Given the description of an element on the screen output the (x, y) to click on. 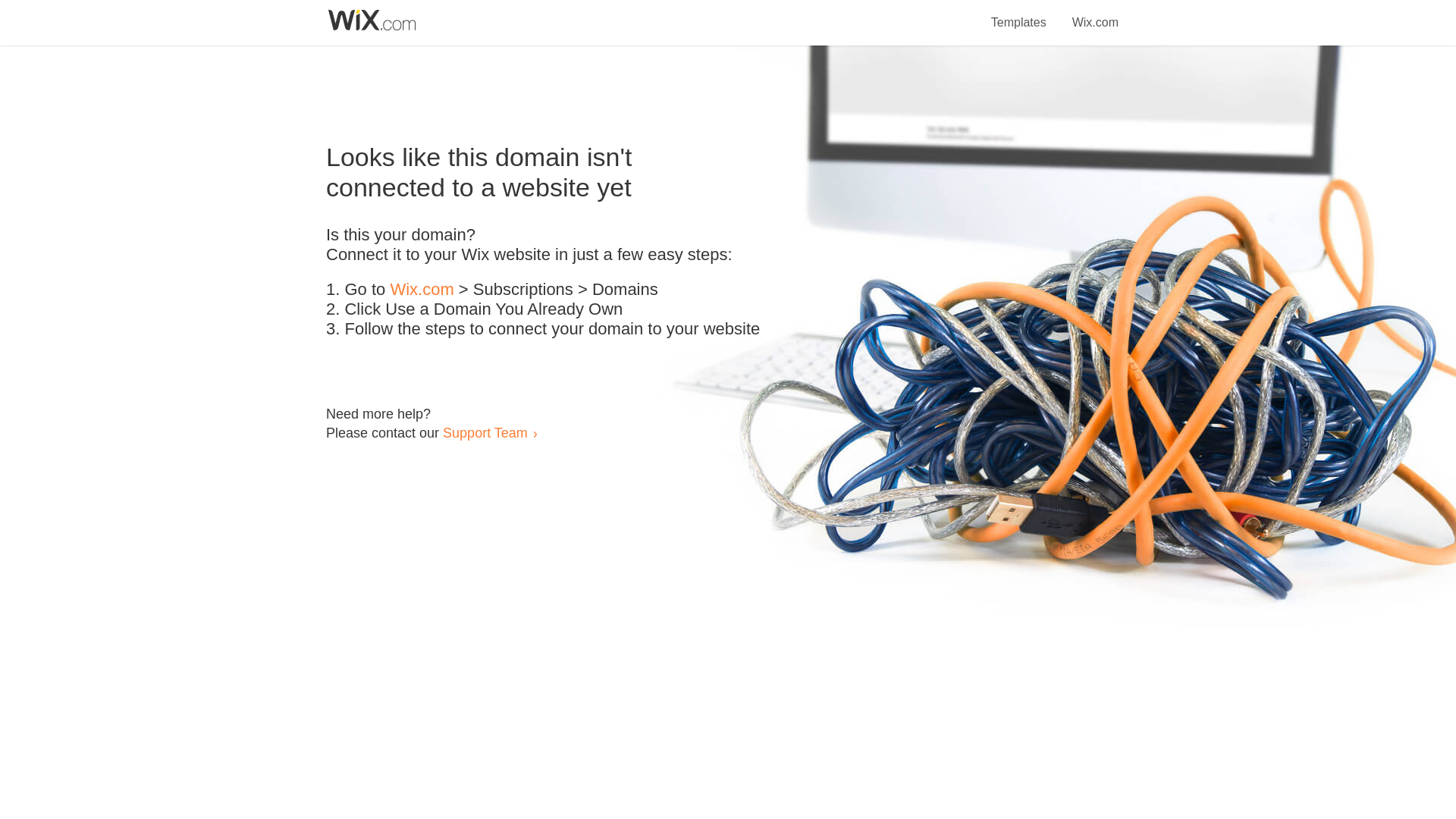
Templates (1018, 14)
Wix.com (421, 289)
Wix.com (1095, 14)
Support Team (484, 432)
